Given the description of an element on the screen output the (x, y) to click on. 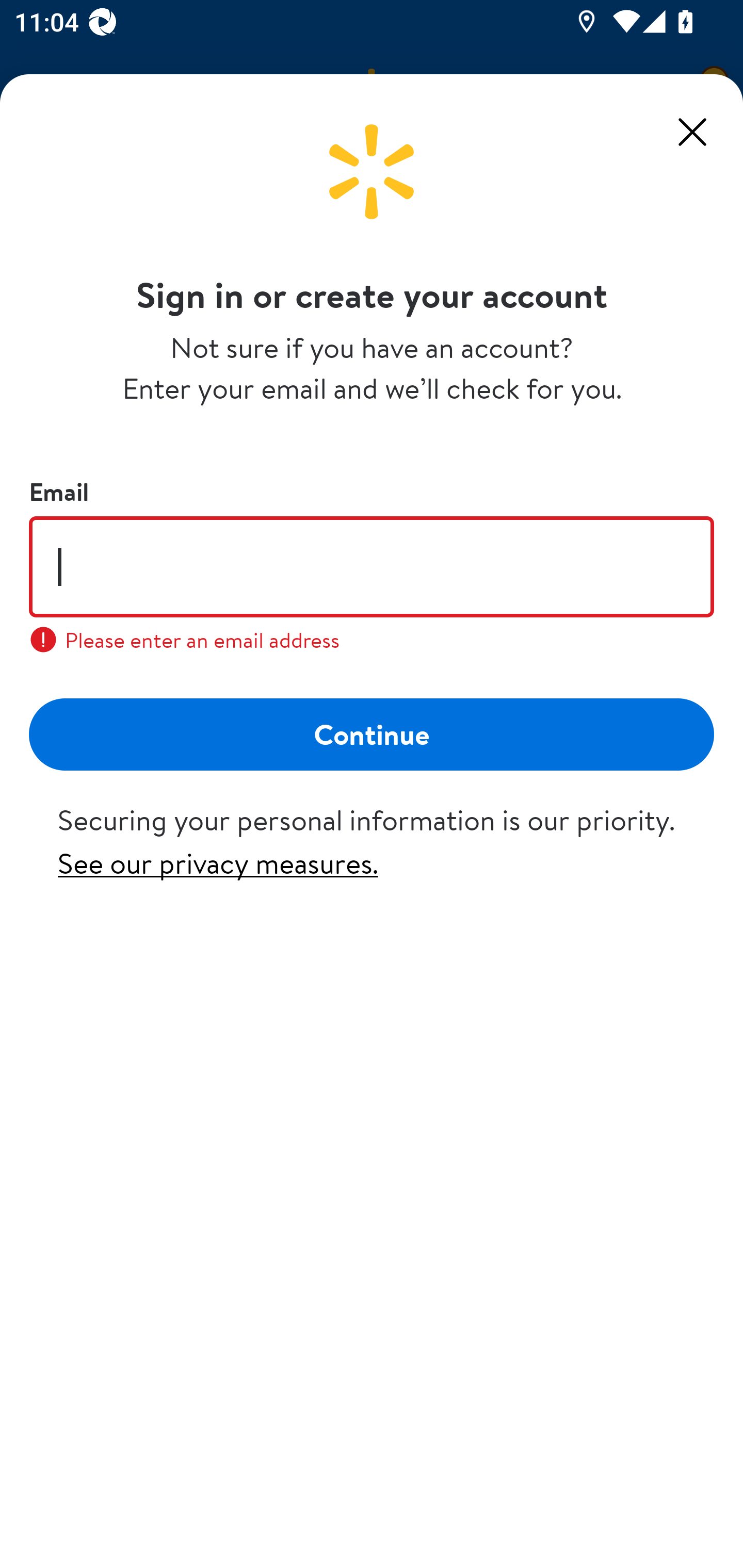
Close (692, 131)
Email (371, 566)
Continue (371, 733)
